Given the description of an element on the screen output the (x, y) to click on. 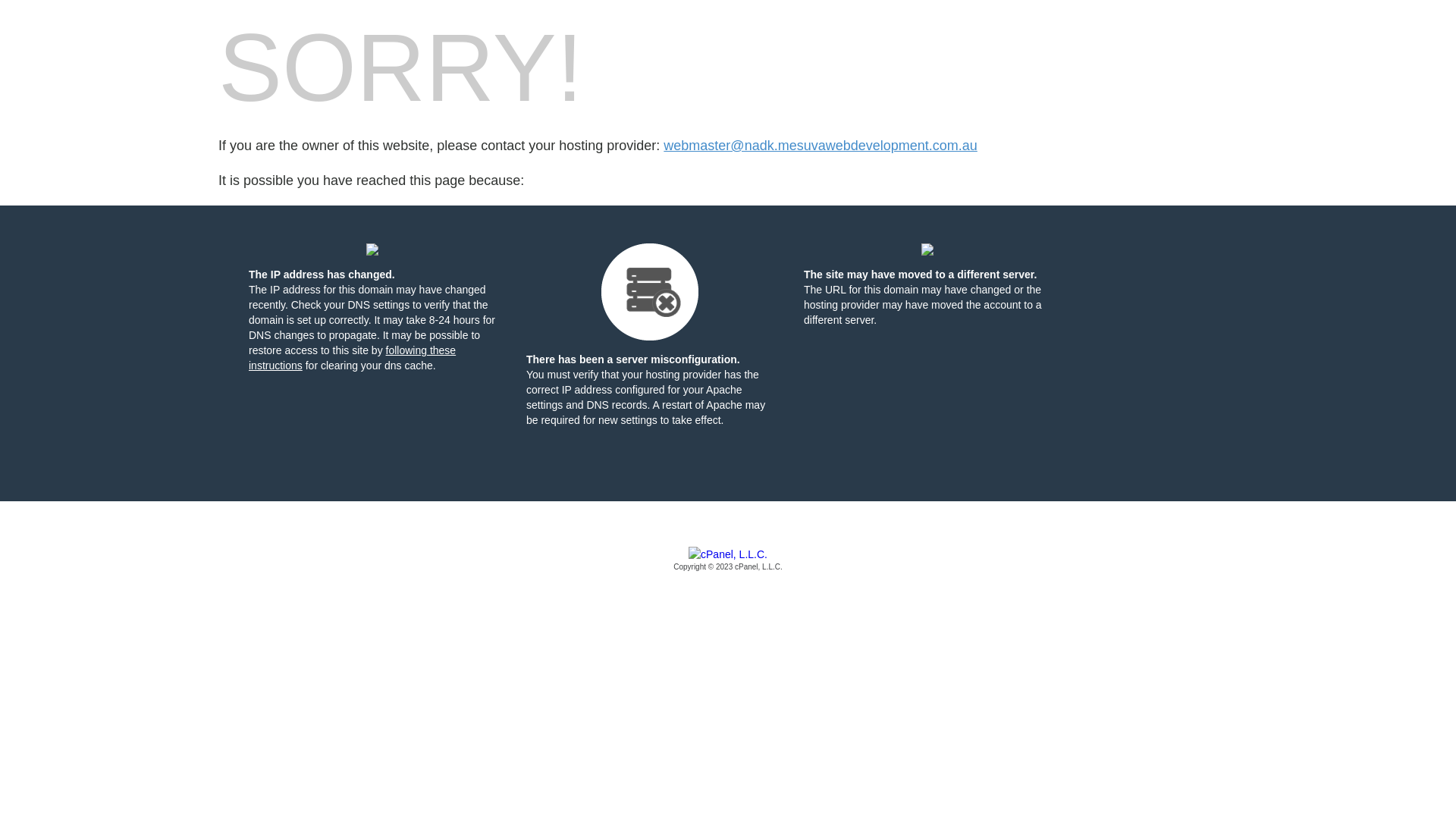
webmaster@nadk.mesuvawebdevelopment.com.au Element type: text (819, 145)
following these instructions Element type: text (351, 357)
